Given the description of an element on the screen output the (x, y) to click on. 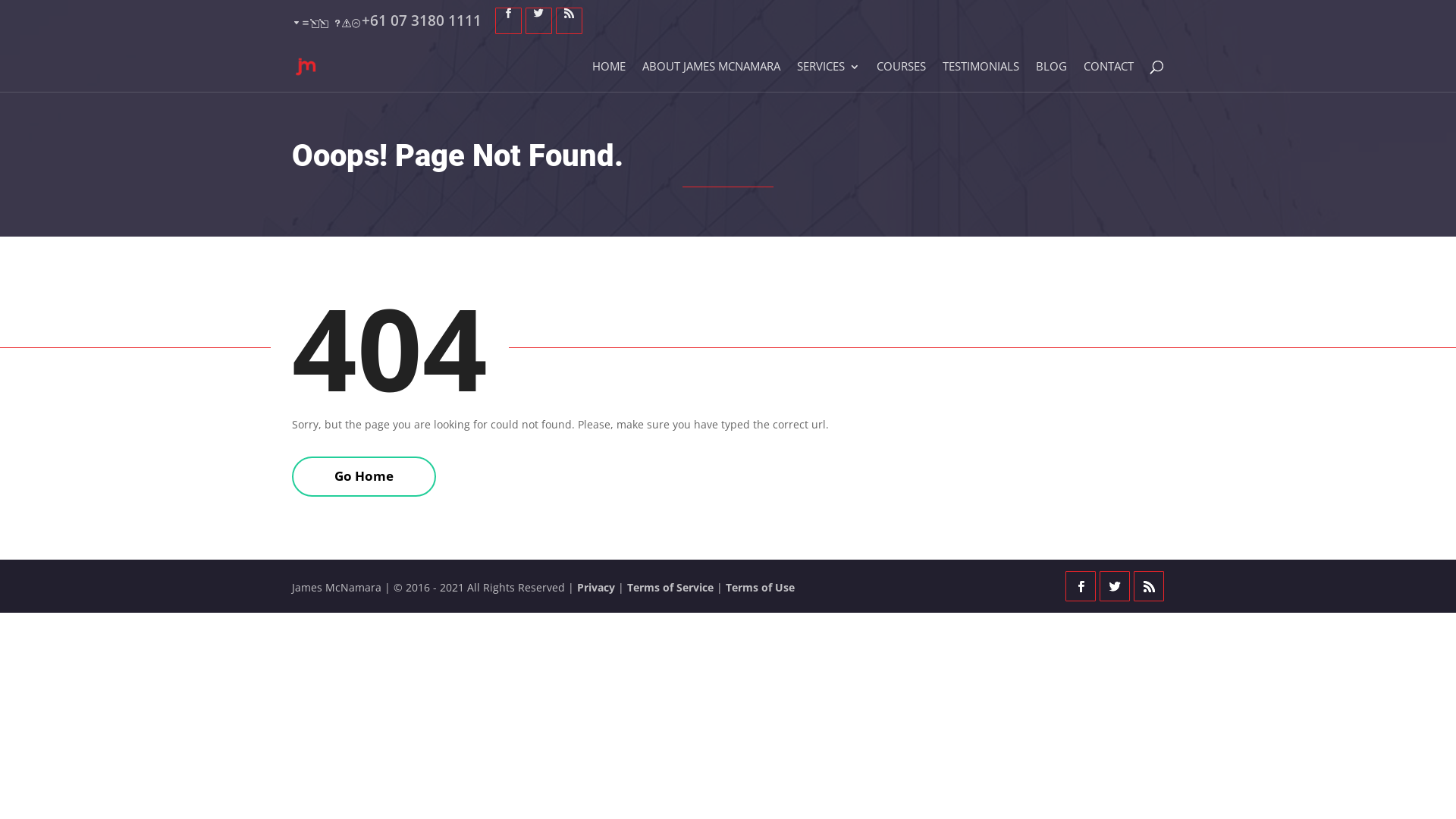
Go Home Element type: text (363, 476)
Terms of Use Element type: text (759, 587)
HOME Element type: text (608, 75)
Terms of Service Element type: text (670, 587)
SERVICES Element type: text (828, 75)
BLOG Element type: text (1050, 75)
Privacy Element type: text (596, 587)
TESTIMONIALS Element type: text (980, 75)
CONTACT Element type: text (1108, 75)
COURSES Element type: text (900, 75)
ABOUT JAMES MCNAMARA Element type: text (711, 75)
